Given the description of an element on the screen output the (x, y) to click on. 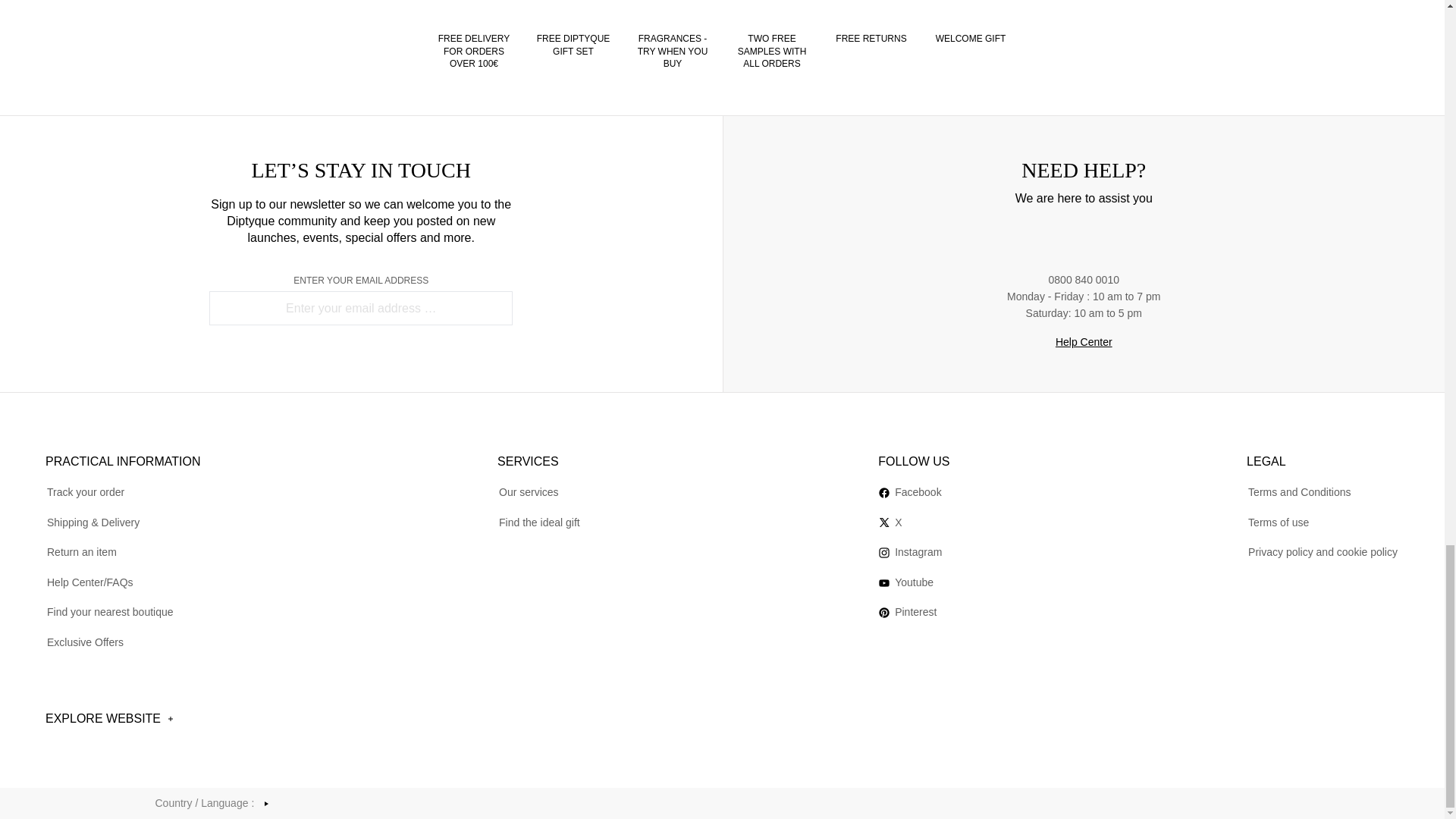
Return an item (81, 551)
Help Center (1083, 342)
Track your order (85, 491)
PRACTICAL INFORMATION (122, 457)
Help Center Opens in new tab (1083, 342)
